Given the description of an element on the screen output the (x, y) to click on. 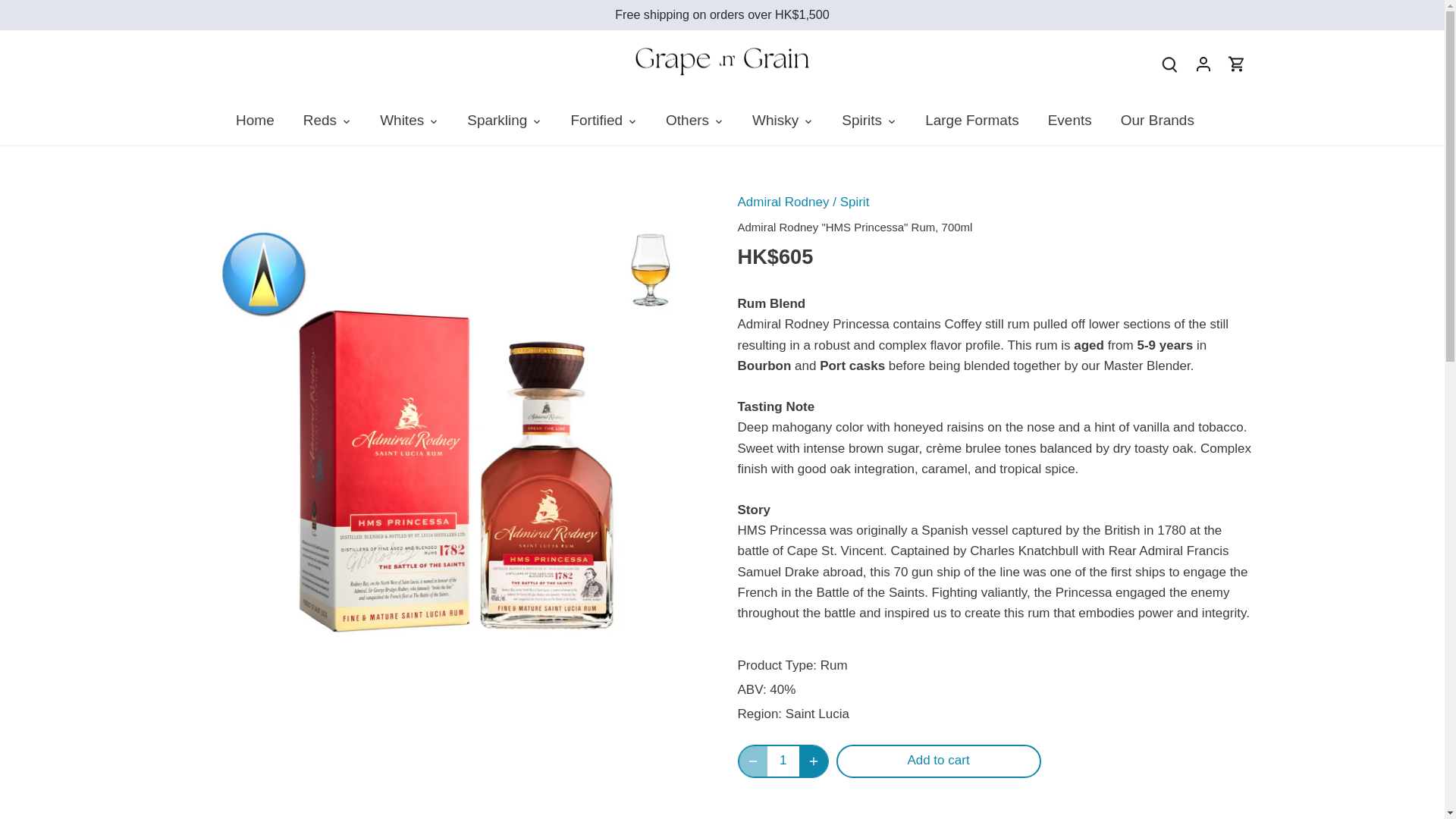
Reds (319, 120)
1 (783, 761)
Home (261, 120)
